Given the description of an element on the screen output the (x, y) to click on. 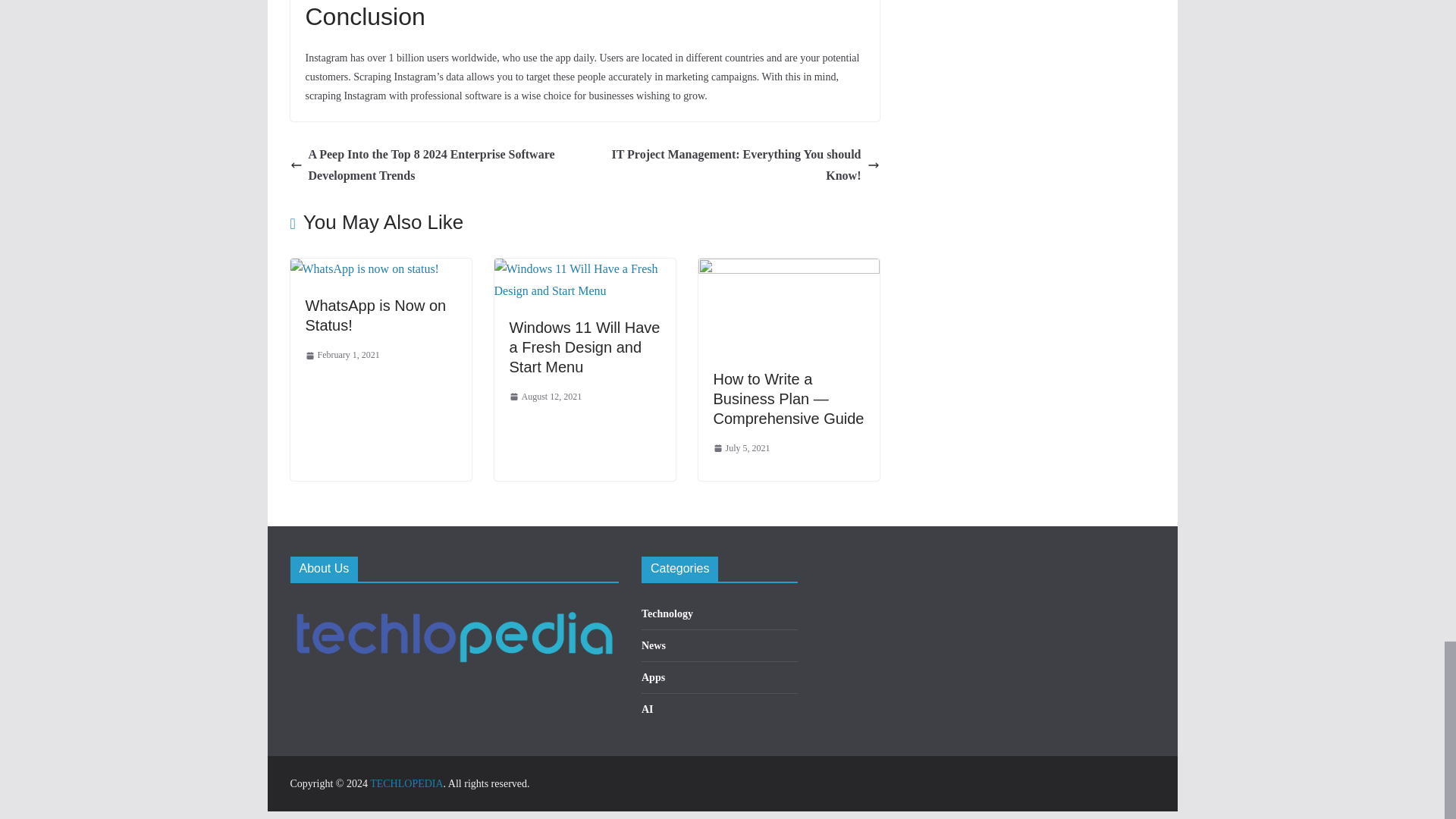
February 1, 2021 (341, 355)
2:53 pm (545, 397)
Windows 11 Will Have a Fresh Design and Start Menu (585, 347)
9:22 am (341, 355)
WhatsApp is Now on Status! (374, 315)
IT Project Management: Everything You should Know! (735, 166)
WhatsApp is Now on Status! (374, 315)
Windows 11 Will Have a Fresh Design and Start Menu (585, 268)
WhatsApp is Now on Status! (363, 268)
